Given the description of an element on the screen output the (x, y) to click on. 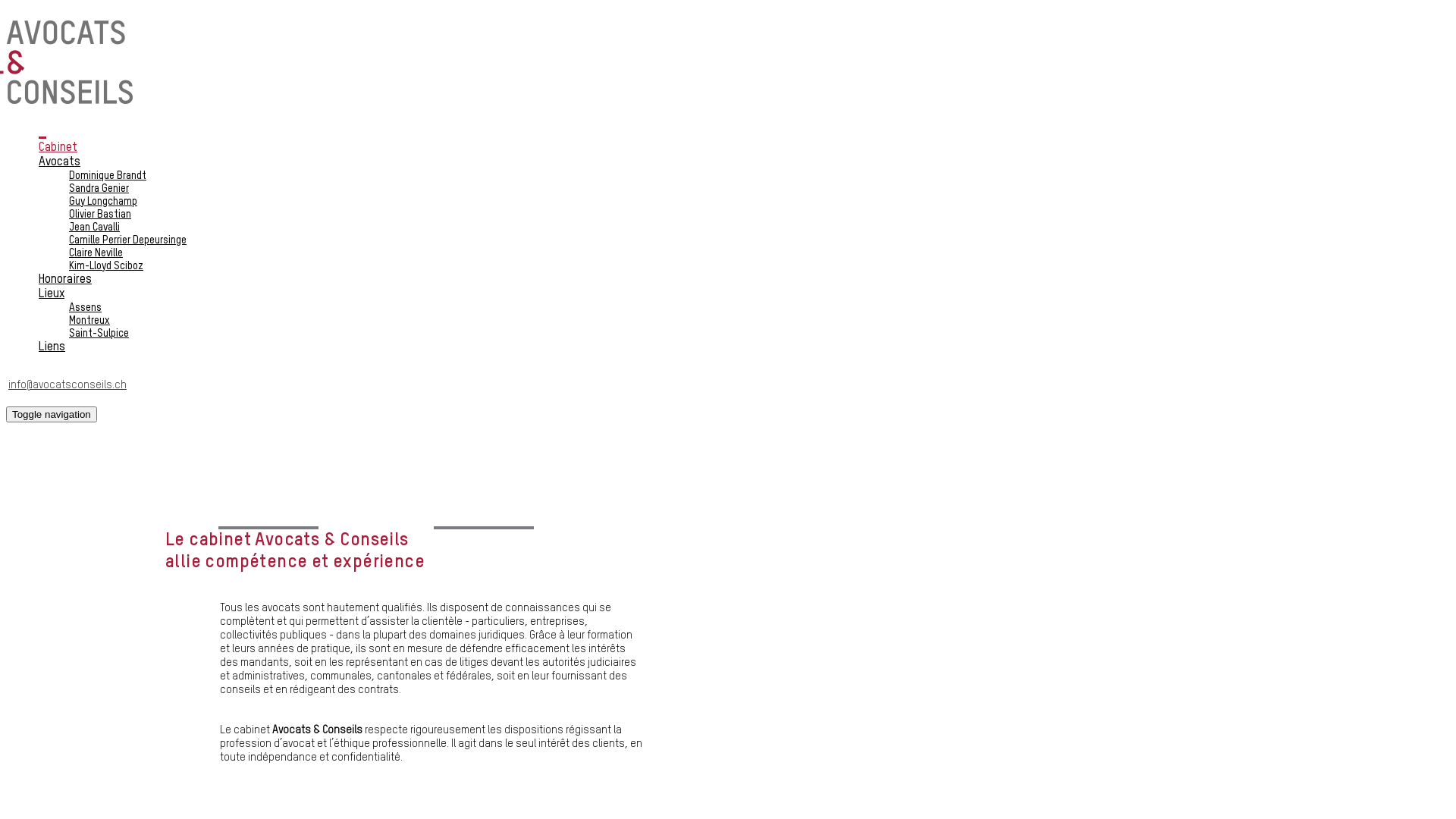
Assens Element type: text (84, 307)
Montreux Element type: text (89, 320)
Claire Neville Element type: text (95, 253)
Sandra Genier Element type: text (98, 188)
Guy Longchamp Element type: text (102, 201)
Liens Element type: text (51, 346)
Toggle navigation Element type: text (51, 414)
Saint-Sulpice Element type: text (98, 333)
Lieux Element type: text (51, 293)
Avocats Element type: text (59, 161)
Kim-Lloyd Sciboz Element type: text (105, 266)
Aller au contenu principal Element type: text (6, 6)
Olivier Bastian Element type: text (99, 214)
Cabinet Element type: text (57, 147)
info@avocatsconseils.ch Element type: text (67, 384)
Dominique Brandt Element type: text (107, 175)
Camille Perrier Depeursinge Element type: text (127, 240)
Jean Cavalli Element type: text (94, 227)
Honoraires Element type: text (65, 279)
